Given the description of an element on the screen output the (x, y) to click on. 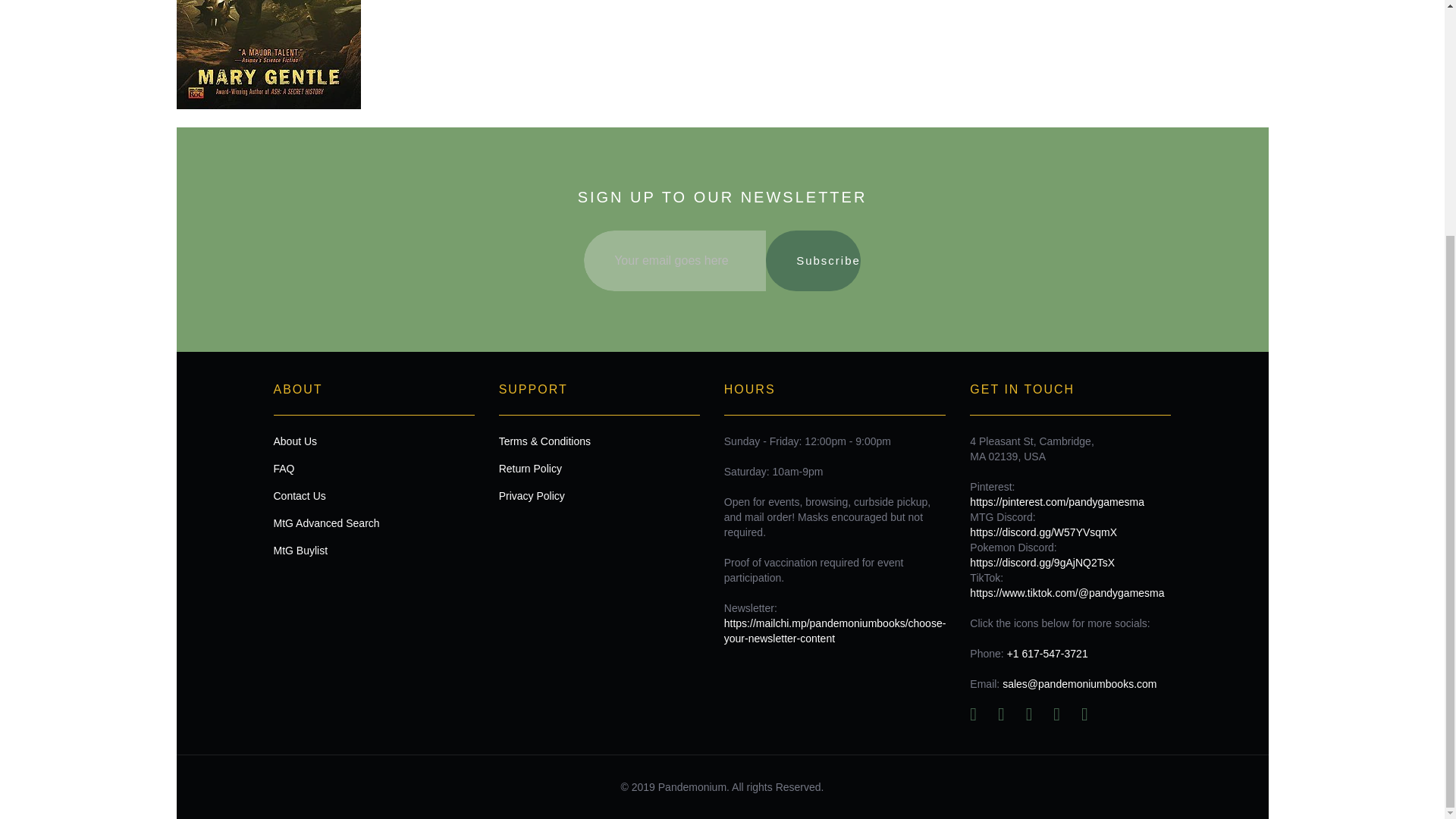
Return Policy (599, 468)
MtG Advanced Search (373, 522)
About Us (373, 441)
MtG Buylist (373, 549)
Contact Us (373, 495)
Privacy Policy (599, 495)
Subscribe (812, 260)
Subscribe (812, 260)
FAQ (373, 468)
